Given the description of an element on the screen output the (x, y) to click on. 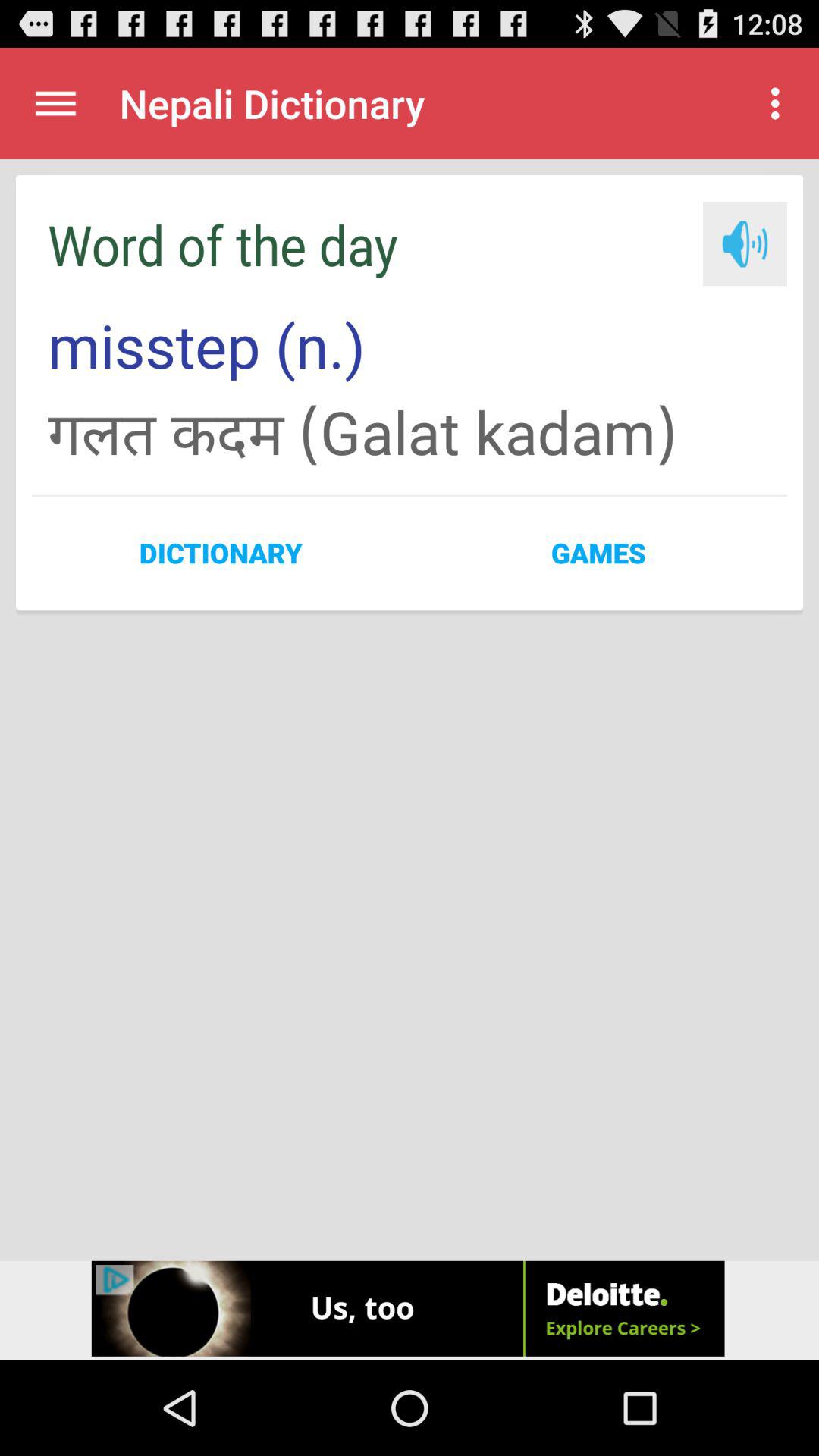
hear text (744, 243)
